Given the description of an element on the screen output the (x, y) to click on. 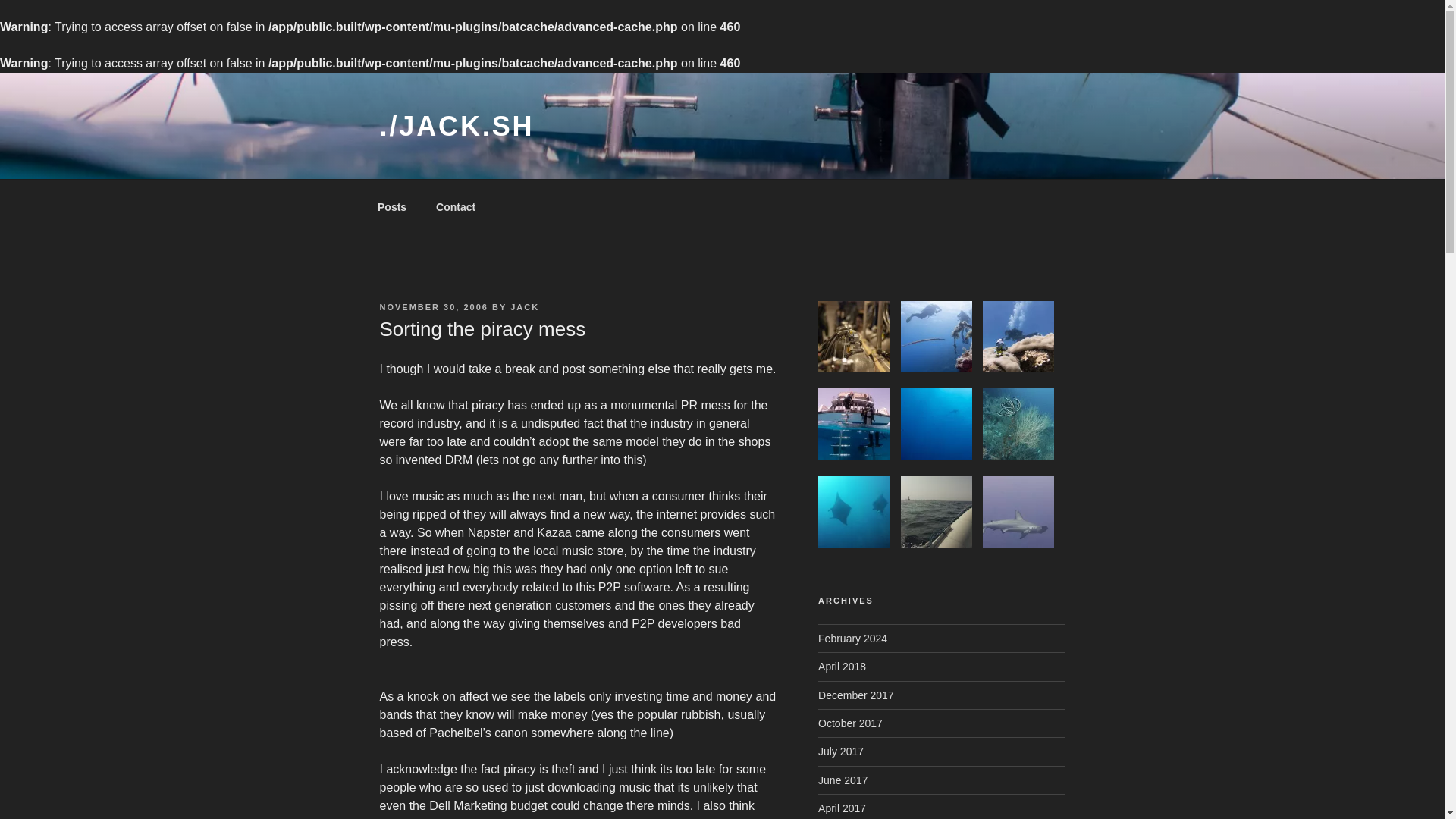
Posts (391, 206)
Contact (456, 206)
NOVEMBER 30, 2006 (432, 307)
JACK (524, 307)
